Given the description of an element on the screen output the (x, y) to click on. 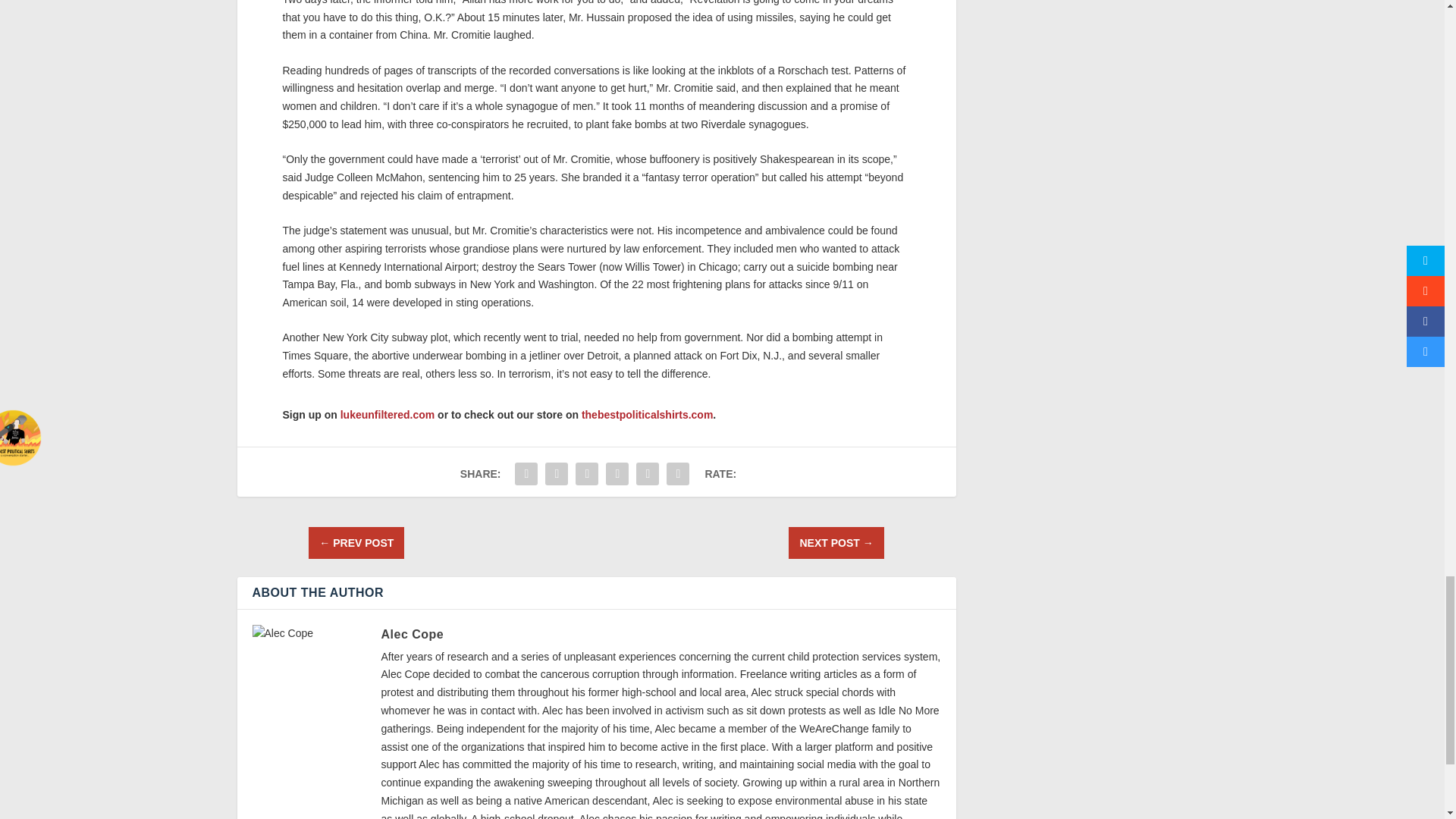
Share "Terrorist Plots, Hatched by the F.B.I." via Pinterest (616, 473)
Share "Terrorist Plots, Hatched by the F.B.I." via Facebook (526, 473)
Share "Terrorist Plots, Hatched by the F.B.I." via Twitter (556, 473)
View all posts by Alec Cope (412, 634)
Share "Terrorist Plots, Hatched by the F.B.I." via Tumblr (587, 473)
Share "Terrorist Plots, Hatched by the F.B.I." via Email (677, 473)
lukeunfiltered.com (386, 414)
